Given the description of an element on the screen output the (x, y) to click on. 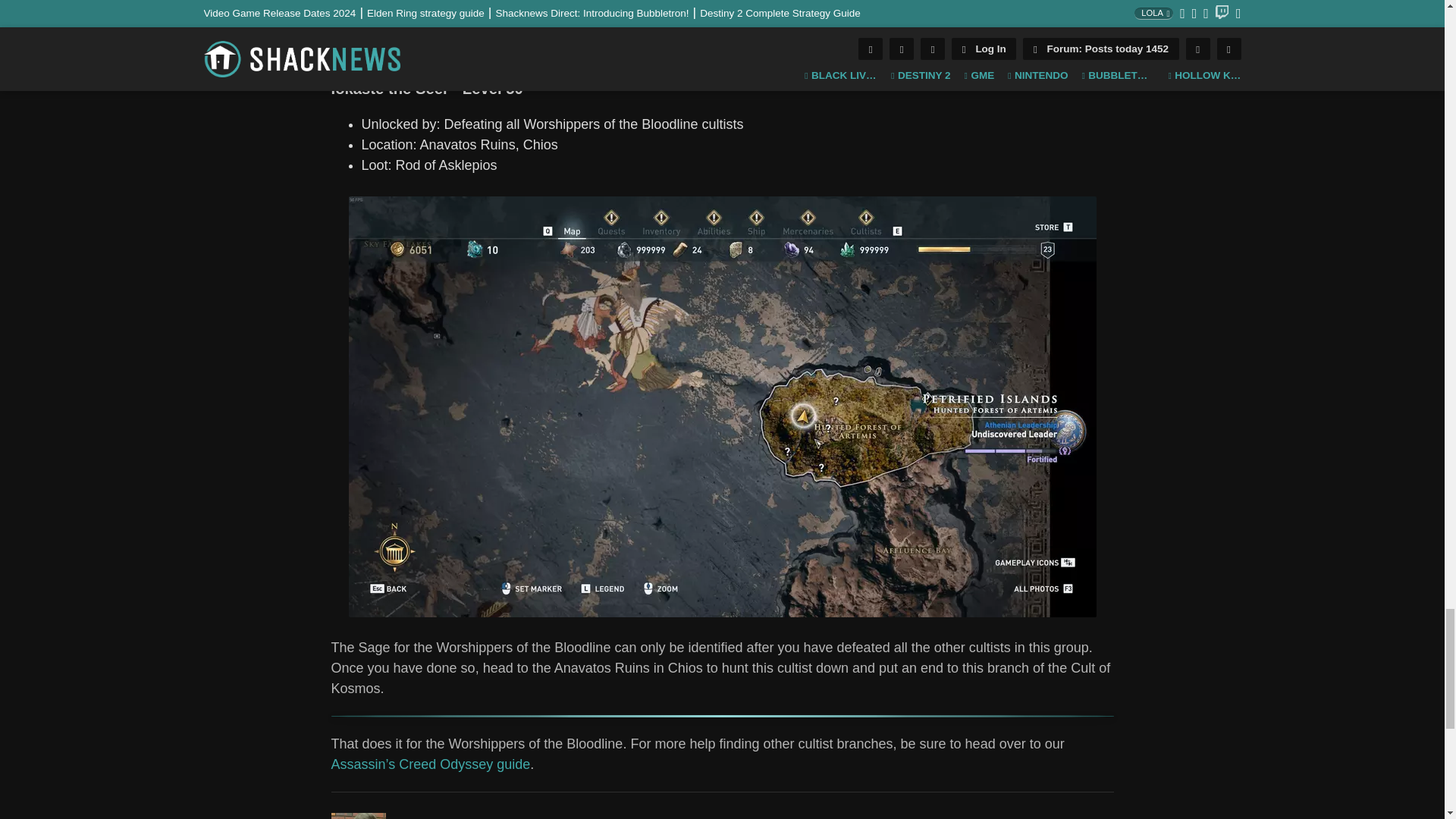
Guides Editor (357, 816)
